Given the description of an element on the screen output the (x, y) to click on. 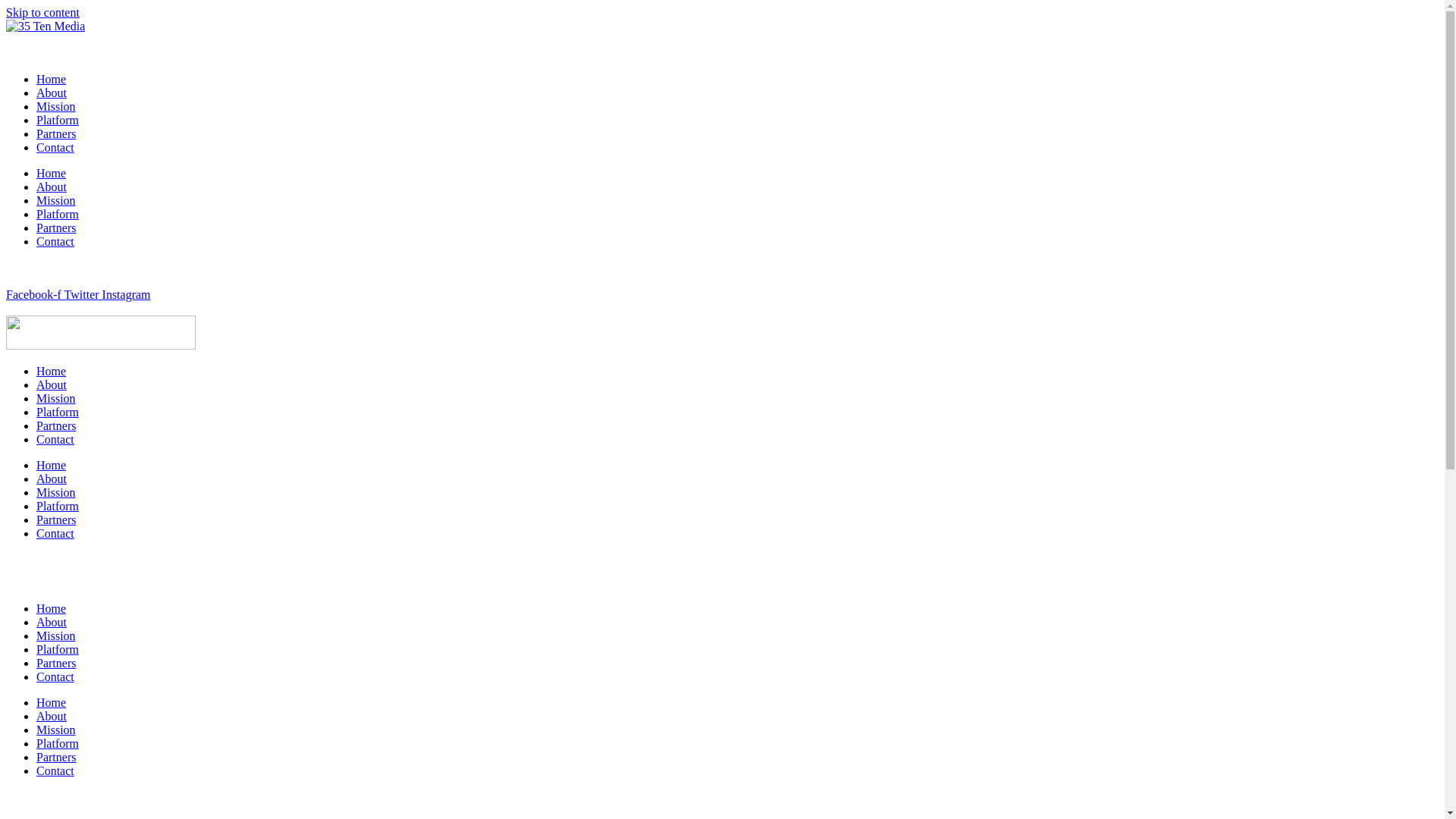
Platform Element type: text (57, 411)
Home Element type: text (50, 172)
Contact Element type: text (55, 770)
Platform Element type: text (57, 119)
Partners Element type: text (55, 425)
About Element type: text (51, 92)
Contact Element type: text (55, 241)
Mission Element type: text (55, 492)
Partners Element type: text (55, 519)
About Element type: text (51, 384)
Platform Element type: text (57, 505)
Home Element type: text (50, 370)
Partners Element type: text (55, 227)
Contact Element type: text (55, 147)
Mission Element type: text (55, 729)
Mission Element type: text (55, 398)
Home Element type: text (50, 702)
Partners Element type: text (55, 662)
Twitter Element type: text (83, 294)
Skip to content Element type: text (42, 12)
About Element type: text (51, 715)
Instagram Element type: text (126, 294)
About Element type: text (51, 478)
Mission Element type: text (55, 106)
Mission Element type: text (55, 200)
Platform Element type: text (57, 649)
Mission Element type: text (55, 635)
Partners Element type: text (55, 133)
Partners Element type: text (55, 756)
Platform Element type: text (57, 743)
Contact Element type: text (55, 676)
Home Element type: text (50, 608)
About Element type: text (51, 621)
Facebook-f Element type: text (35, 294)
Platform Element type: text (57, 213)
Home Element type: text (50, 464)
Home Element type: text (50, 78)
Contact Element type: text (55, 439)
About Element type: text (51, 186)
Contact Element type: text (55, 533)
